Given the description of an element on the screen output the (x, y) to click on. 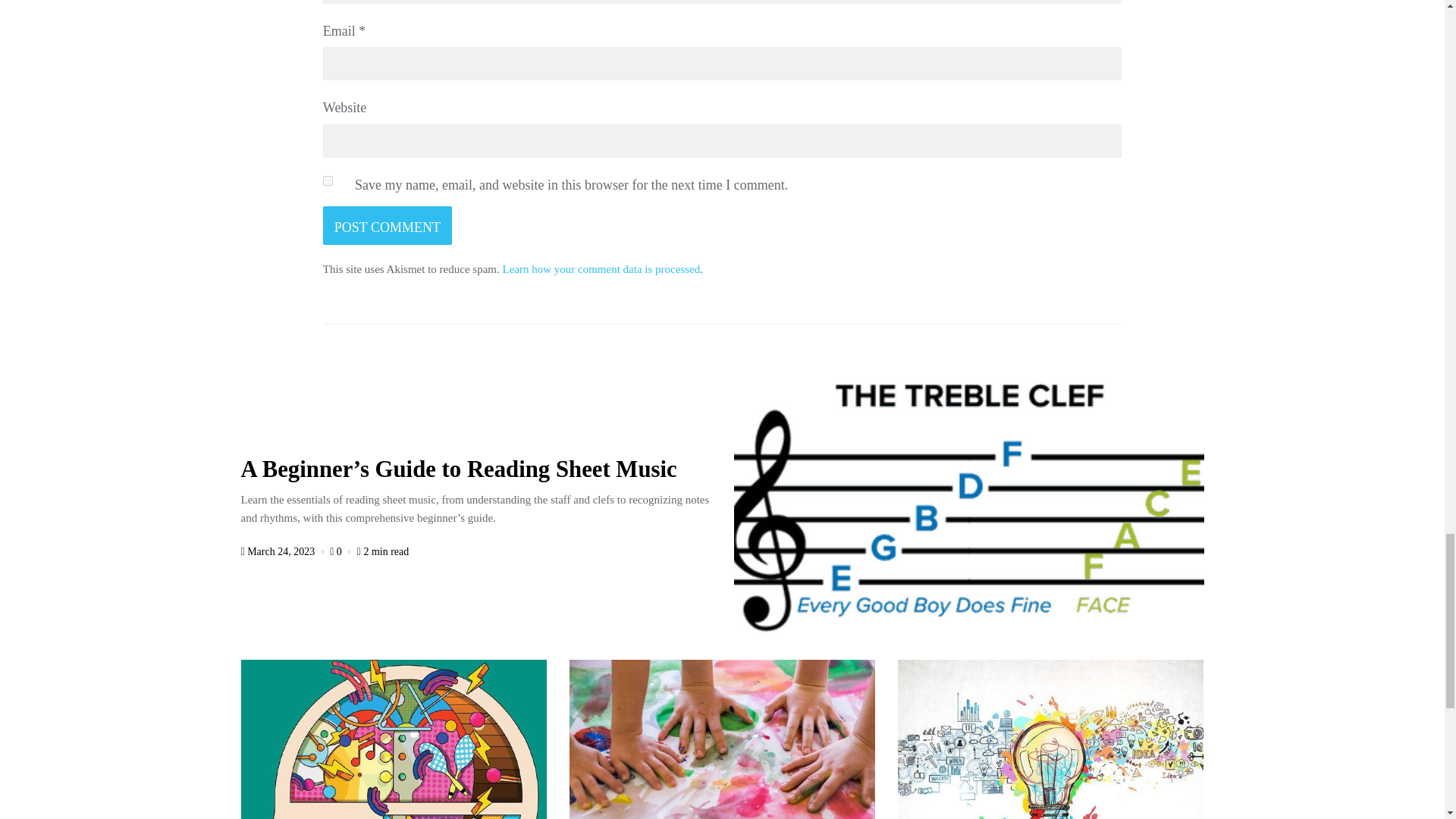
Post Comment (387, 225)
yes (328, 180)
